Given the description of an element on the screen output the (x, y) to click on. 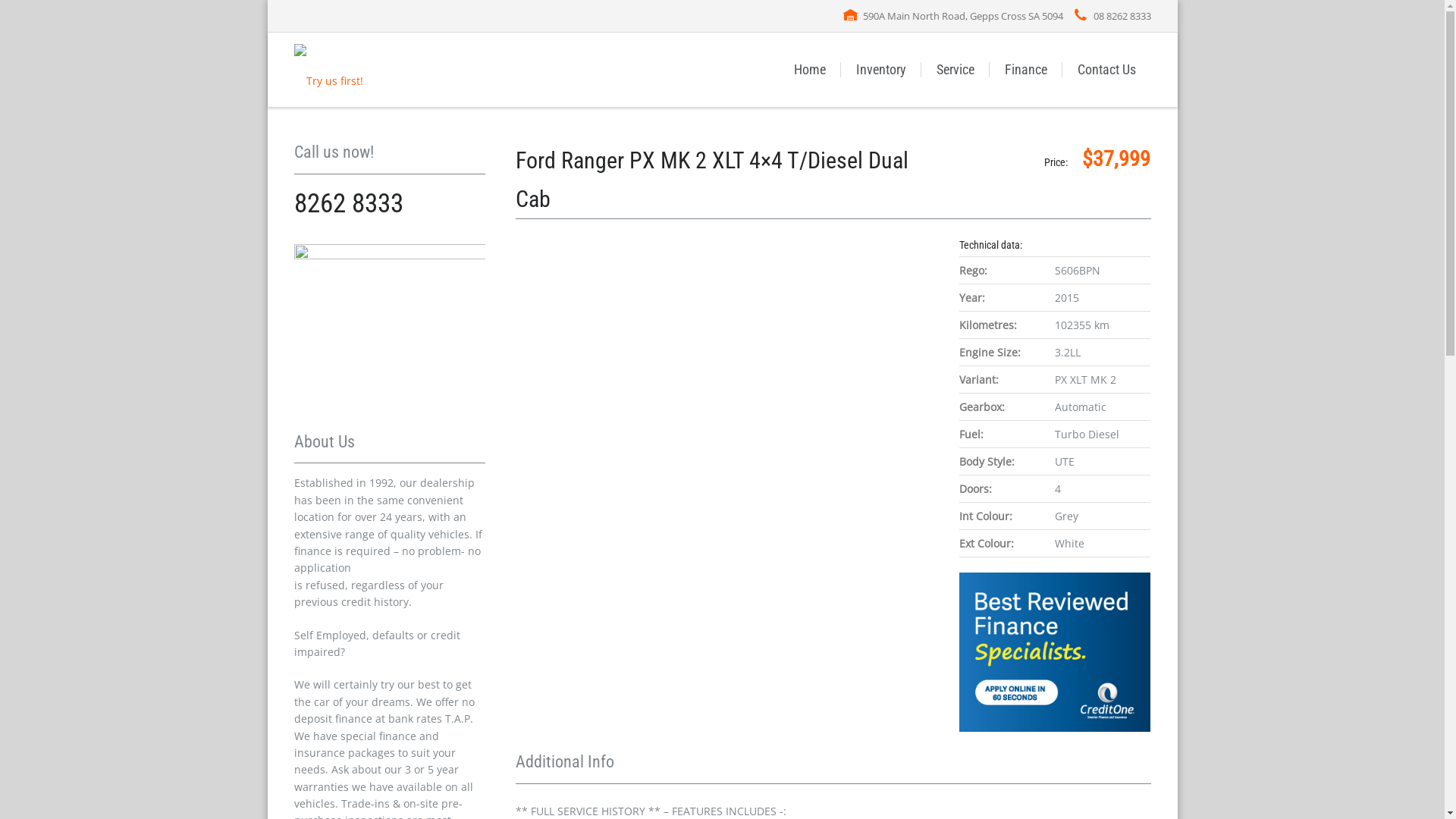
Inventory Element type: text (880, 69)
CreditOne Element type: hover (1054, 651)
Finance Element type: text (1024, 69)
Try us first! Element type: hover (328, 69)
Service Element type: text (954, 69)
Home Element type: text (809, 69)
Contact Us Element type: text (1105, 69)
